Given the description of an element on the screen output the (x, y) to click on. 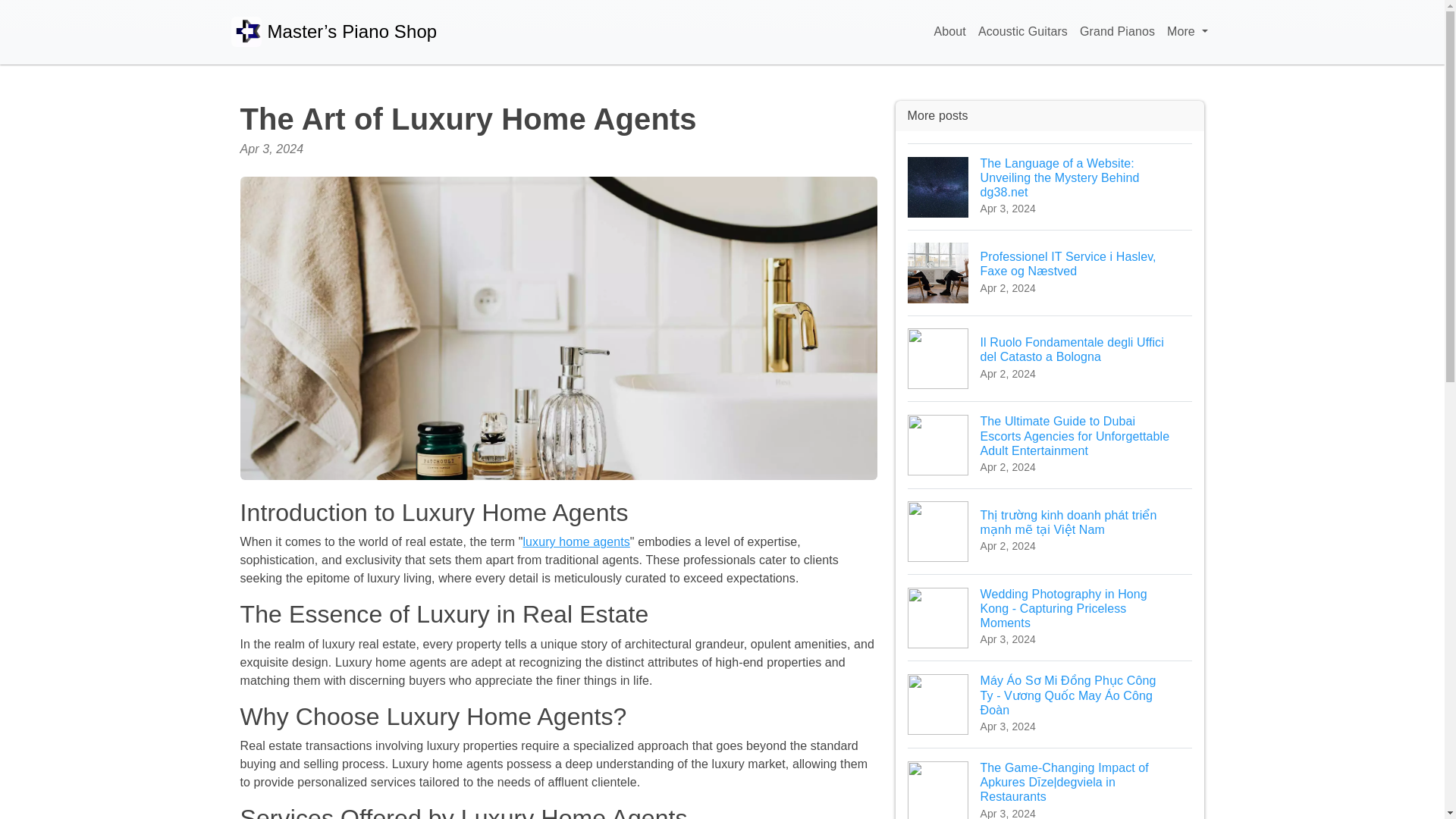
Acoustic Guitars (1023, 32)
More (1186, 32)
luxury home agents (575, 541)
About (950, 32)
Grand Pianos (1117, 32)
